Given the description of an element on the screen output the (x, y) to click on. 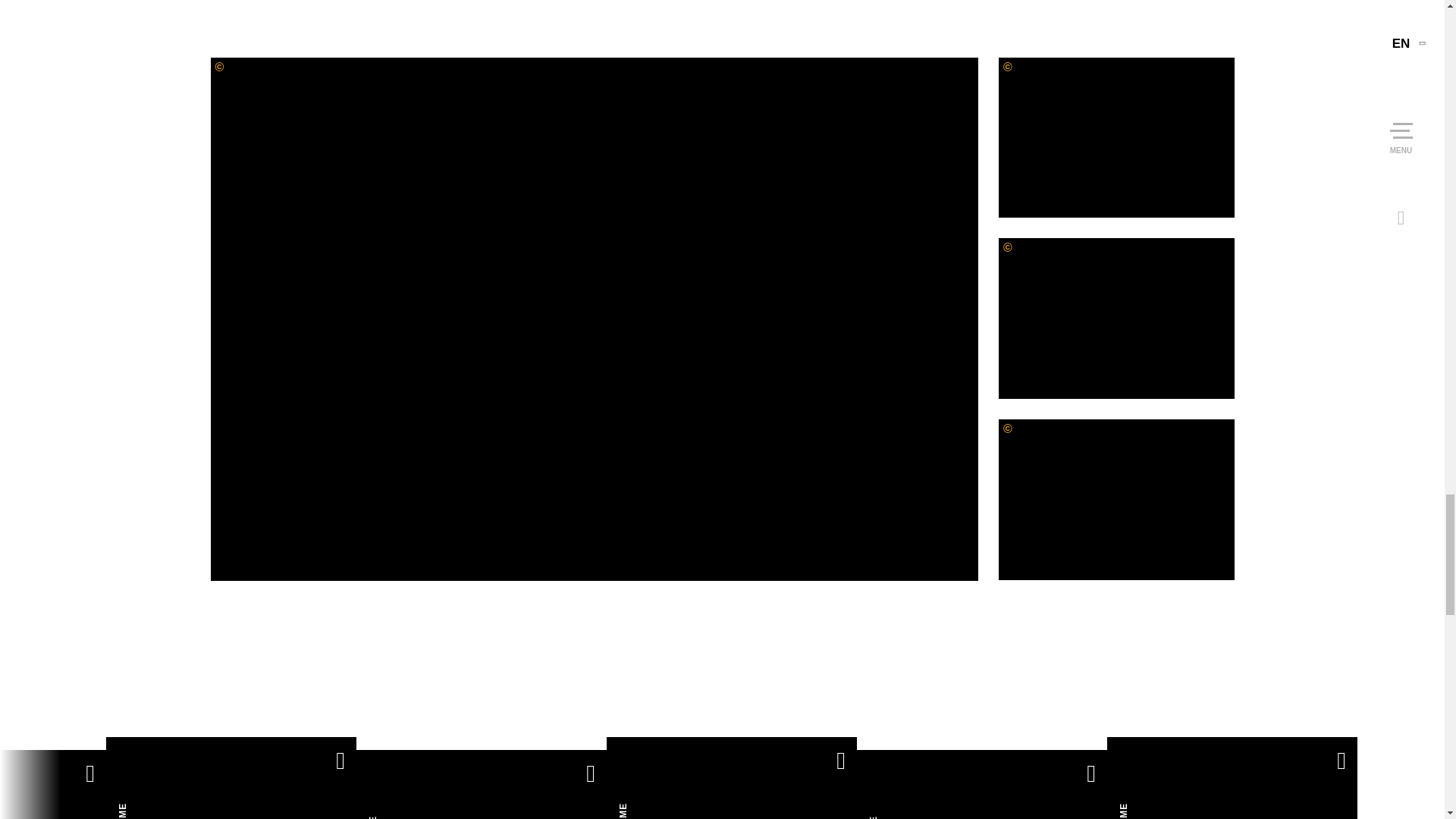
OTI Alpilles en Provence (1116, 318)
OTI Alpilles en Provence (1116, 137)
Mairie Le Paradou (1116, 499)
